Given the description of an element on the screen output the (x, y) to click on. 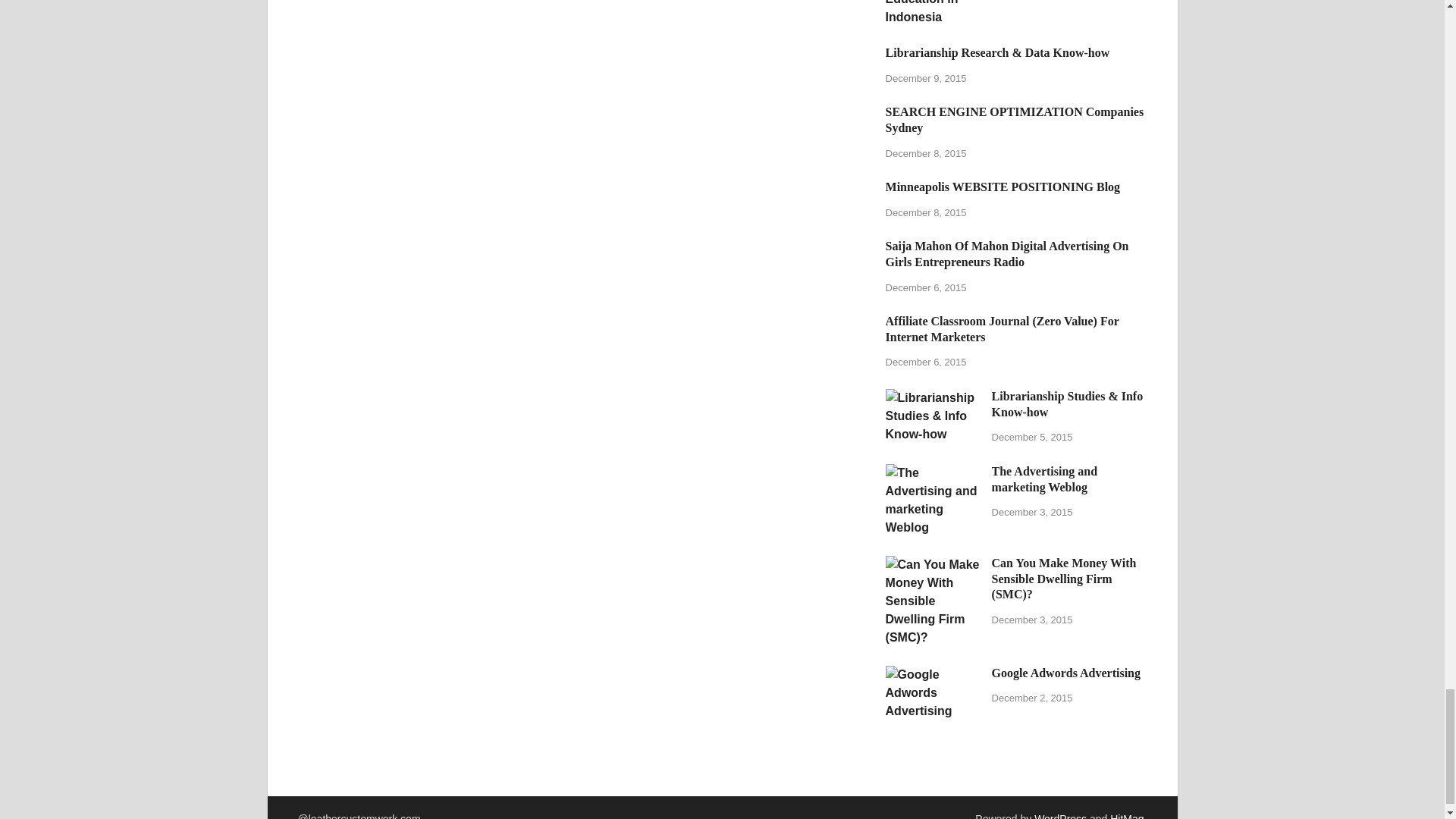
Google Adwords Advertising (932, 674)
The Advertising and marketing Weblog (932, 472)
